Given the description of an element on the screen output the (x, y) to click on. 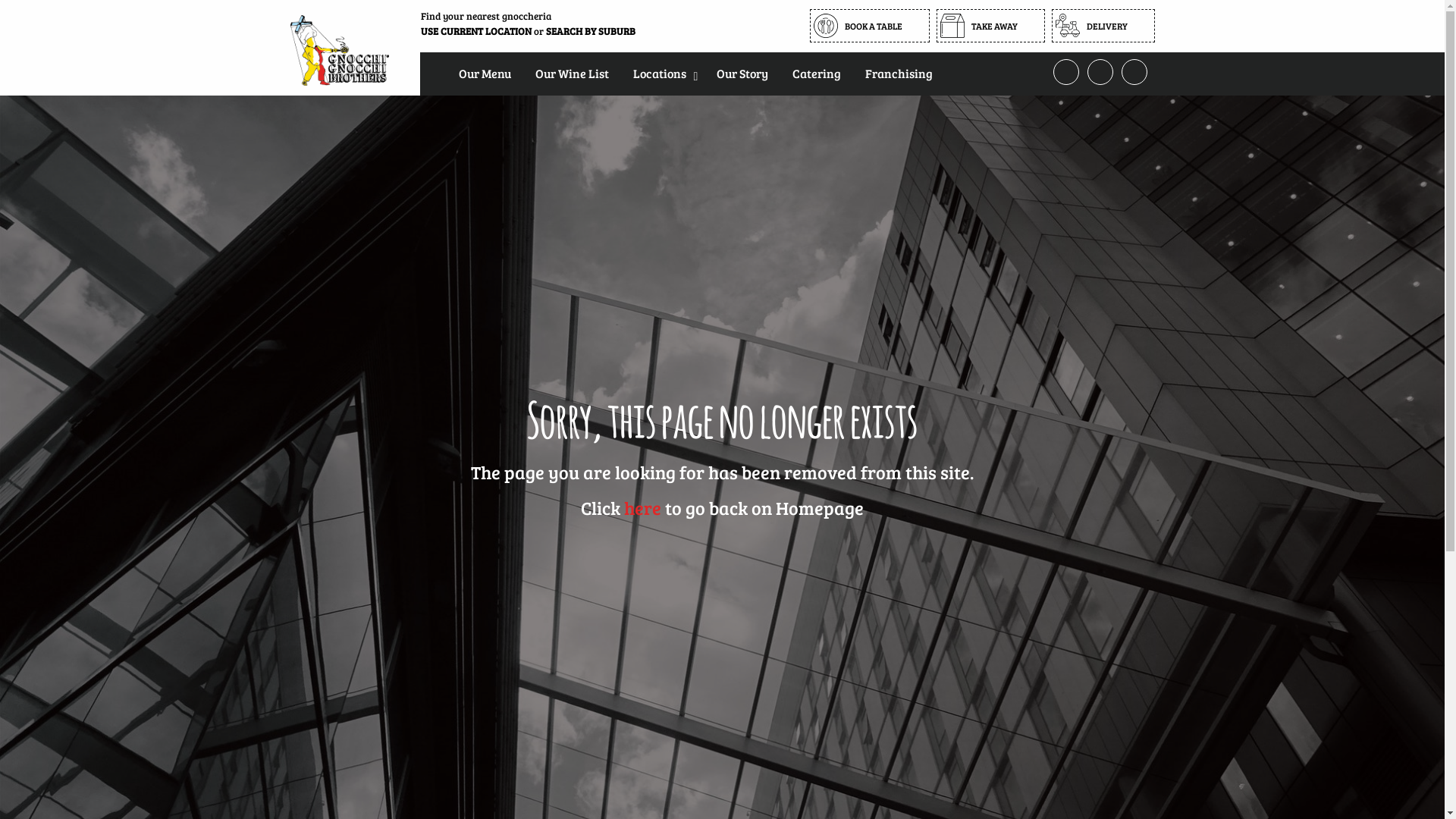
Catering Element type: text (815, 73)
Our Wine List Element type: text (572, 73)
here Element type: text (642, 507)
Our Menu Element type: text (483, 73)
SEARCH BY SUBURB Element type: text (590, 30)
Locations Element type: text (661, 73)
Our Story Element type: text (741, 73)
BOOK A TABLE Element type: text (869, 25)
Franchising Element type: text (898, 73)
DELIVERY Element type: text (1102, 25)
USE CURRENT LOCATION Element type: text (475, 30)
TAKE AWAY Element type: text (989, 25)
